Given the description of an element on the screen output the (x, y) to click on. 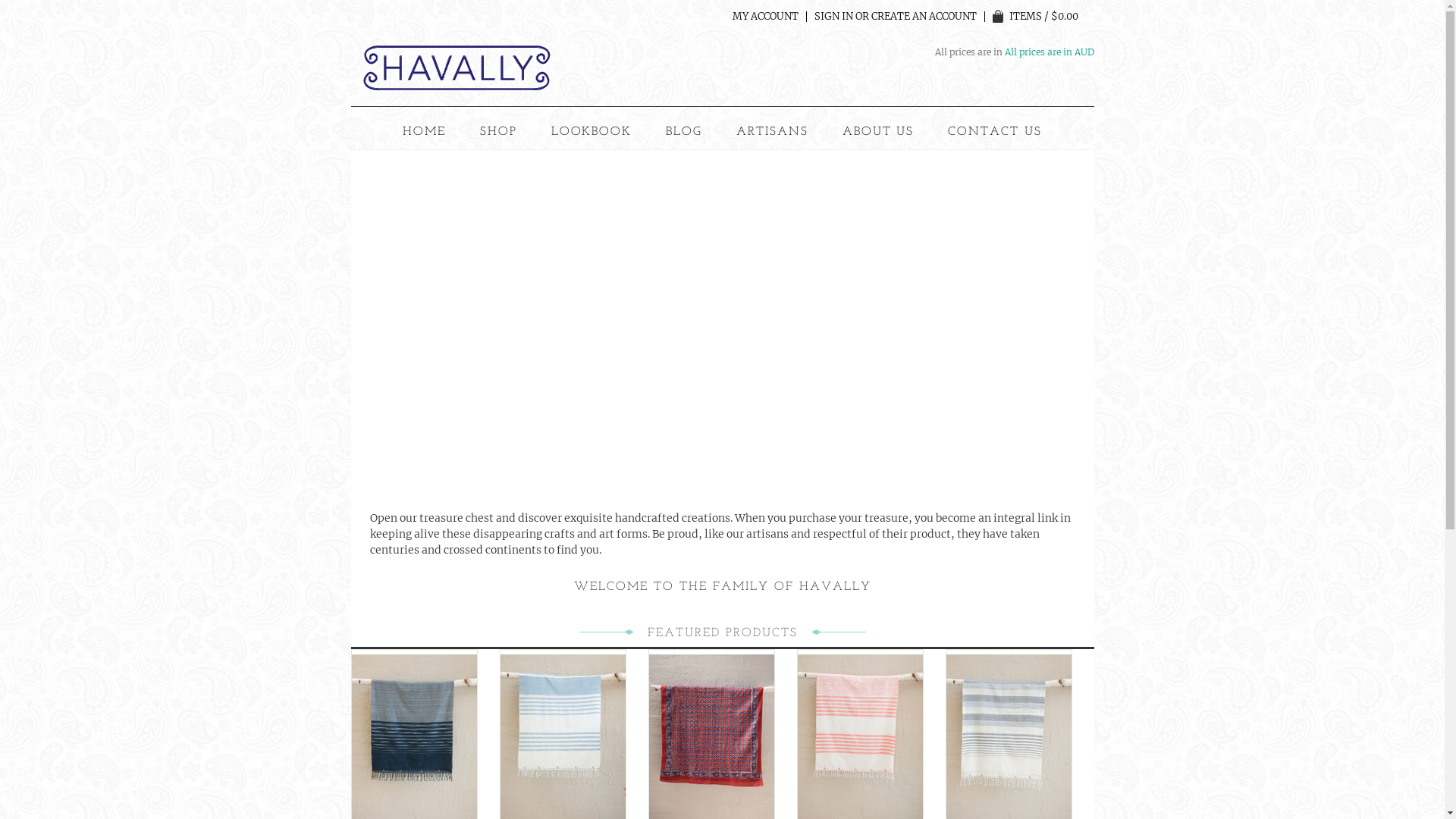
ARTISANS Element type: text (771, 131)
ABOUT US Element type: text (878, 131)
View Cart Element type: hover (997, 16)
HOME Element type: text (424, 131)
All prices are in AUD Element type: text (1048, 51)
LOOKBOOK Element type: text (591, 131)
CREATE AN ACCOUNT Element type: text (922, 16)
SHOP Element type: text (498, 131)
BLOG Element type: text (683, 131)
 ITEMS / $0.00 Element type: text (1034, 16)
SIGN IN Element type: text (833, 16)
MY ACCOUNT Element type: text (765, 16)
CONTACT US Element type: text (994, 131)
